Given the description of an element on the screen output the (x, y) to click on. 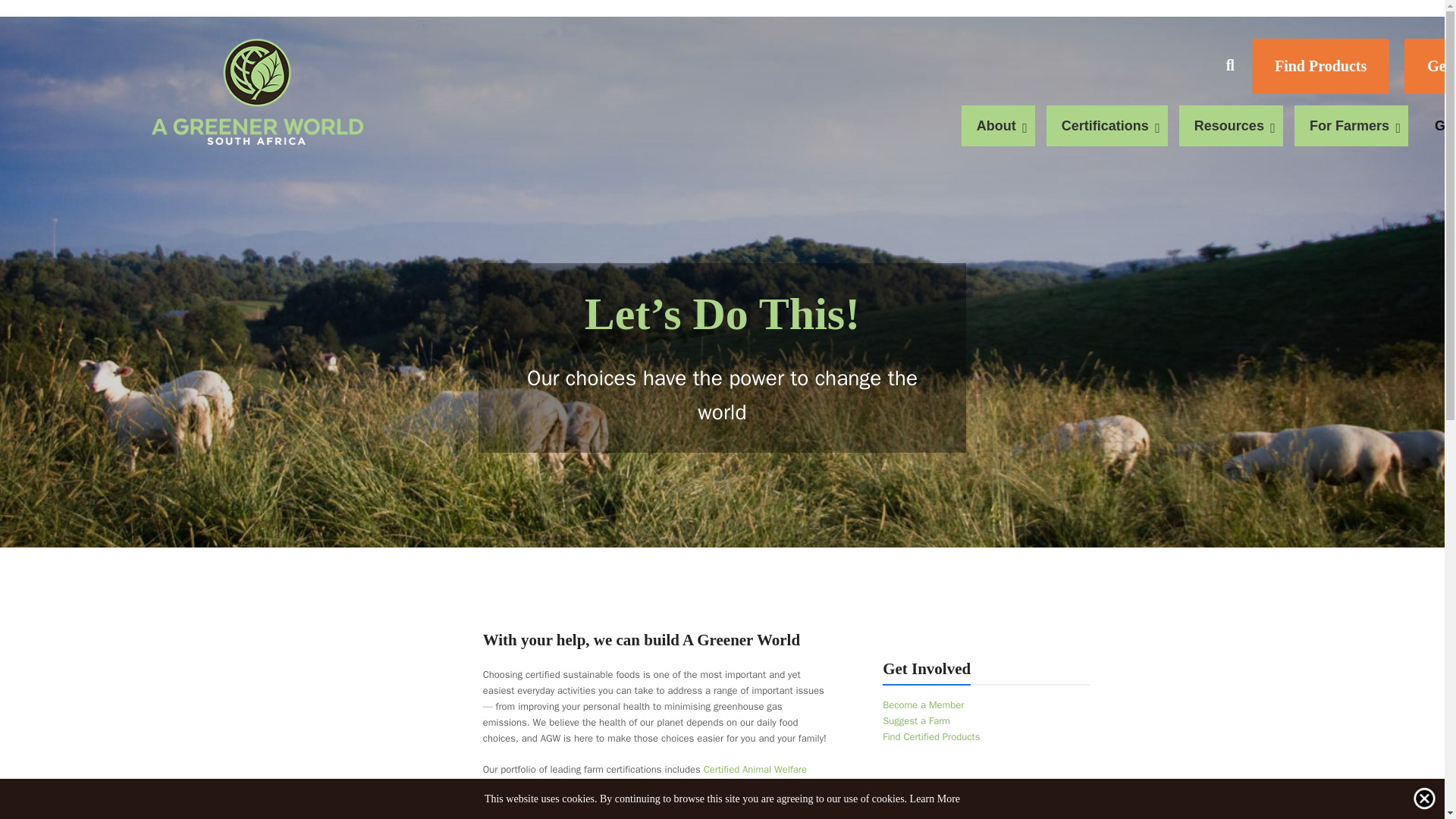
Certified Non-GMO by AGW (755, 784)
For Farmers (1350, 125)
Find Products (1320, 66)
About (997, 125)
A Greener World South Africa (256, 91)
Resources (1230, 125)
Certifications (1106, 125)
Certified Animal Welfare Approved by AGW (644, 776)
Certified Grassfed by AGW (620, 784)
